Given the description of an element on the screen output the (x, y) to click on. 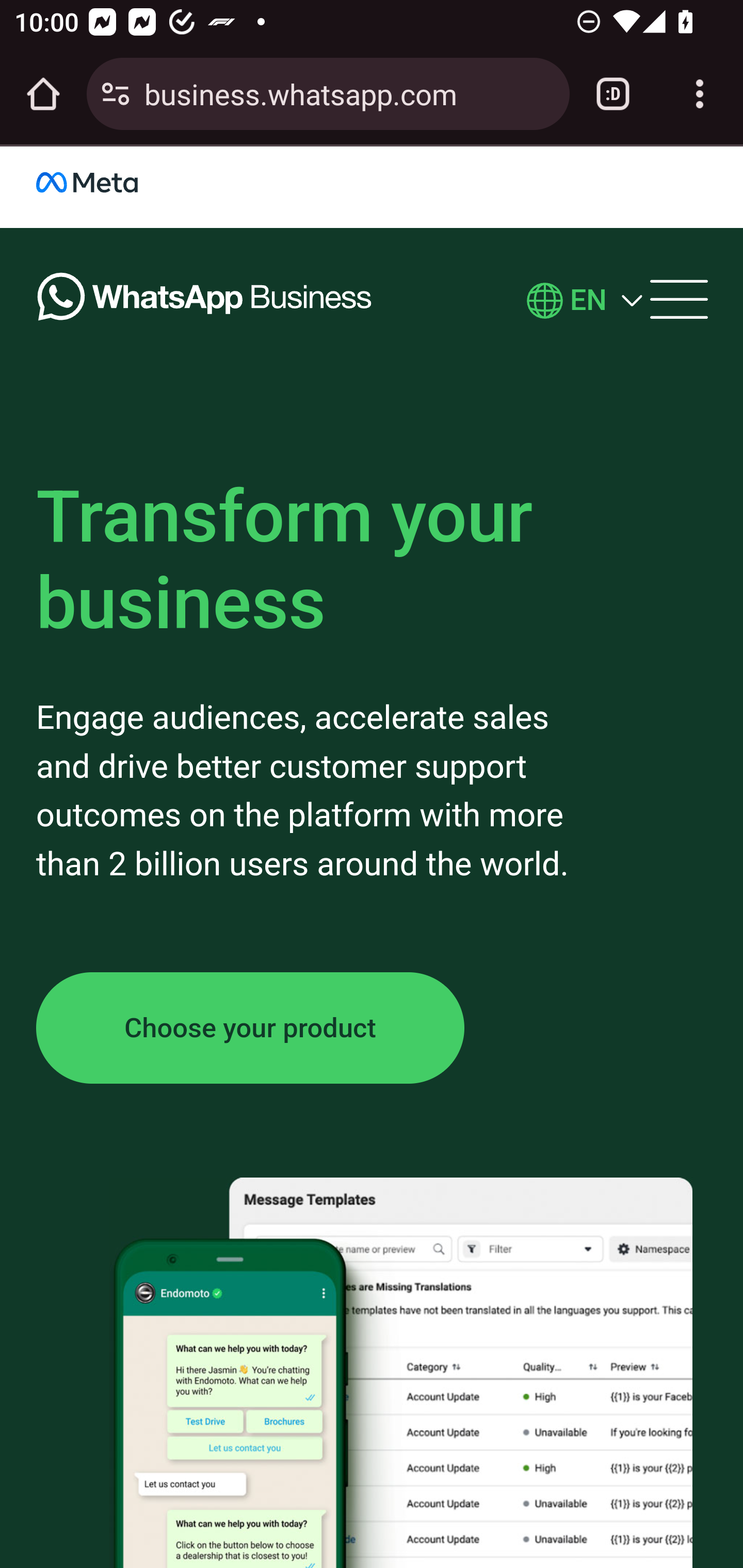
Open the home page (43, 93)
Connection is secure (115, 93)
Switch or close tabs (612, 93)
Customize and control Google Chrome (699, 93)
business.whatsapp.com (349, 92)
business (108, 185)
WhatsApp for Business logo (204, 300)
EN (588, 300)
Choose your product (250, 1027)
